Given the description of an element on the screen output the (x, y) to click on. 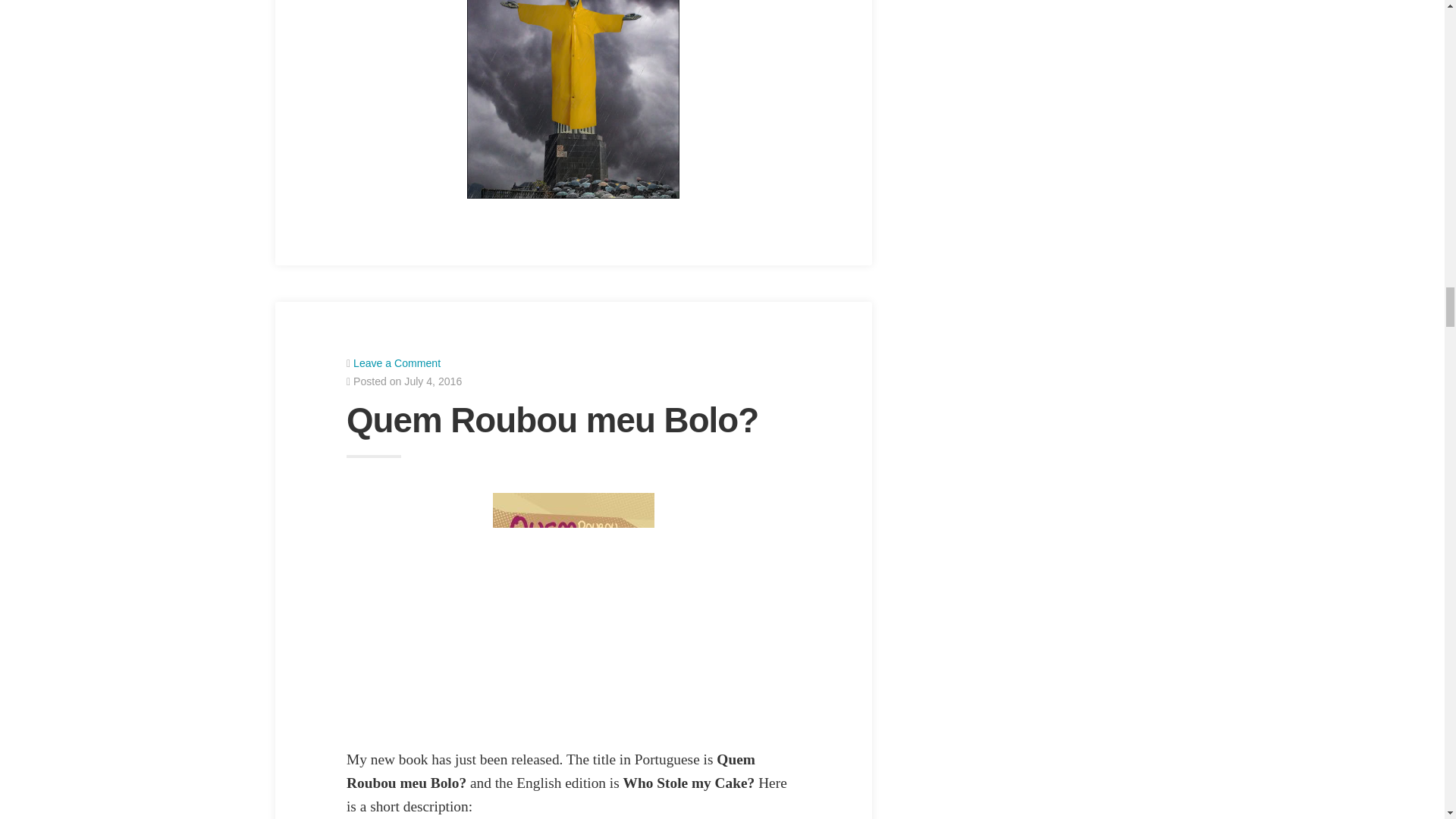
Quem Roubou meu Bolo? (552, 420)
Leave a Comment (397, 363)
Quem Roubou meu Bolo? (552, 420)
